Given the description of an element on the screen output the (x, y) to click on. 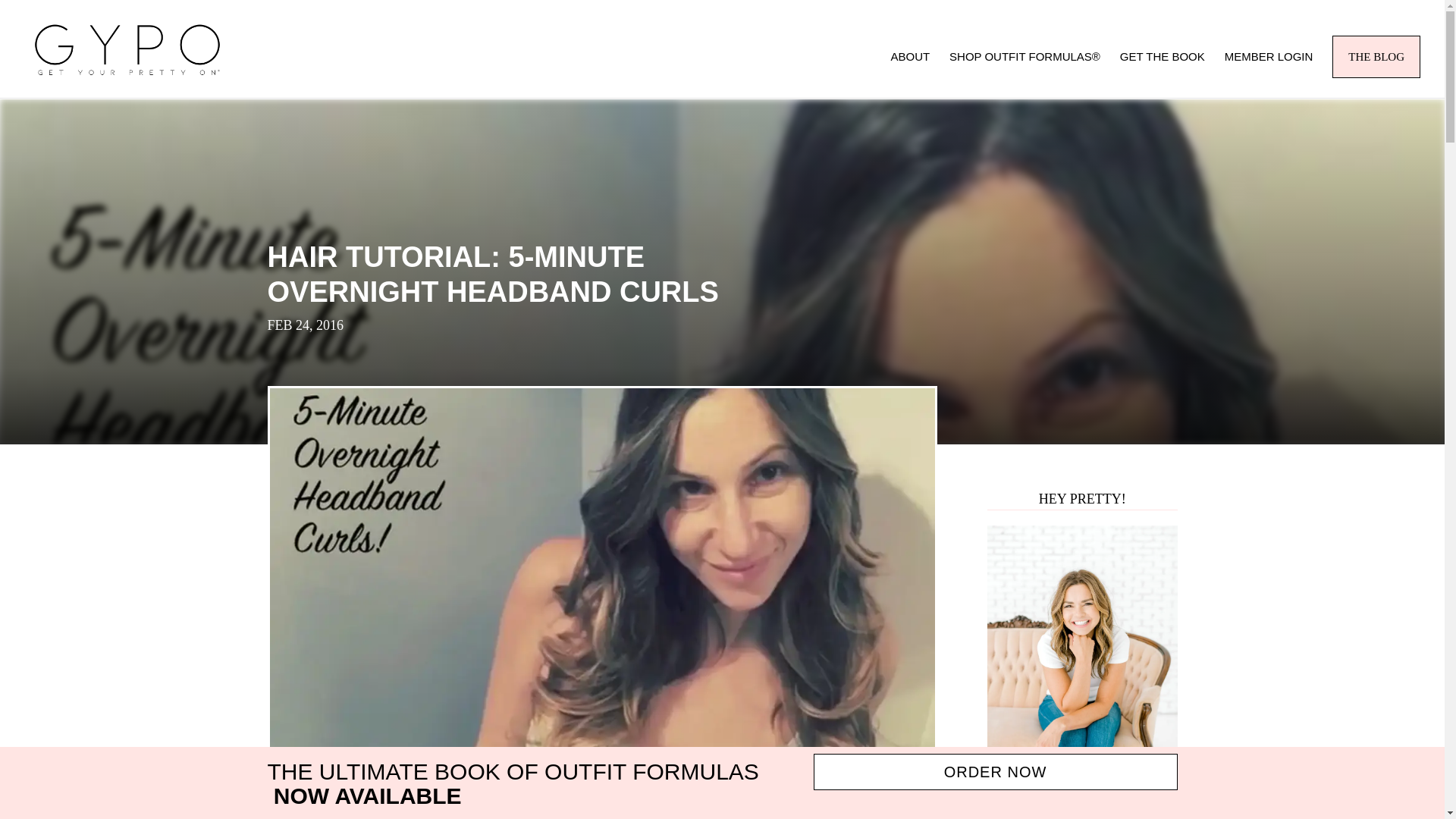
THE BLOG (1376, 56)
ORDER NOW (994, 771)
MEMBER LOGIN (1268, 74)
GET THE BOOK (1162, 74)
